Given the description of an element on the screen output the (x, y) to click on. 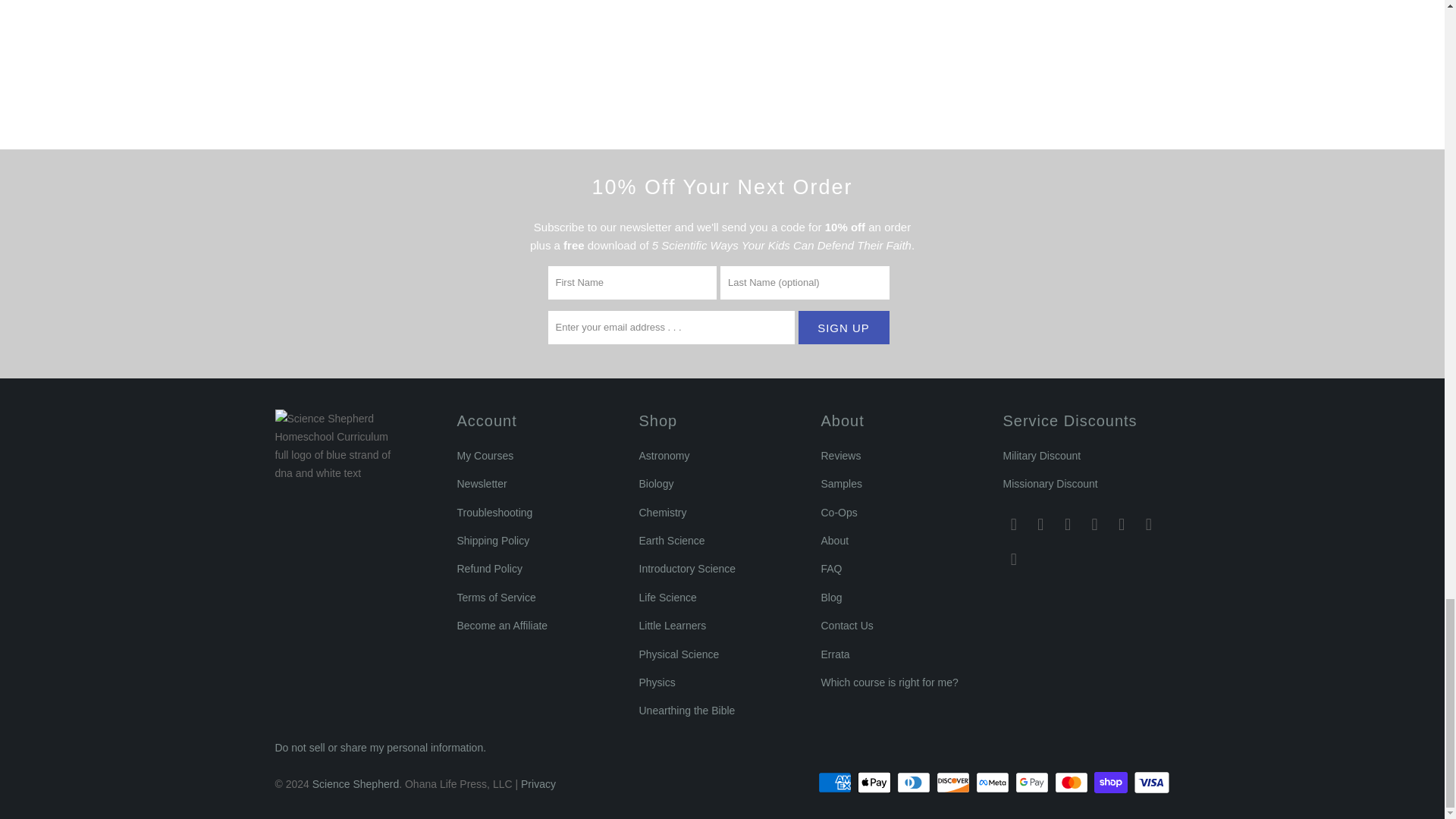
Discover (954, 782)
Apple Pay (875, 782)
Sign Up (842, 327)
Diners Club (914, 782)
Shop Pay (1112, 782)
Meta Pay (993, 782)
Mastercard (1072, 782)
Visa (1150, 782)
American Express (836, 782)
Google Pay (1032, 782)
